Given the description of an element on the screen output the (x, y) to click on. 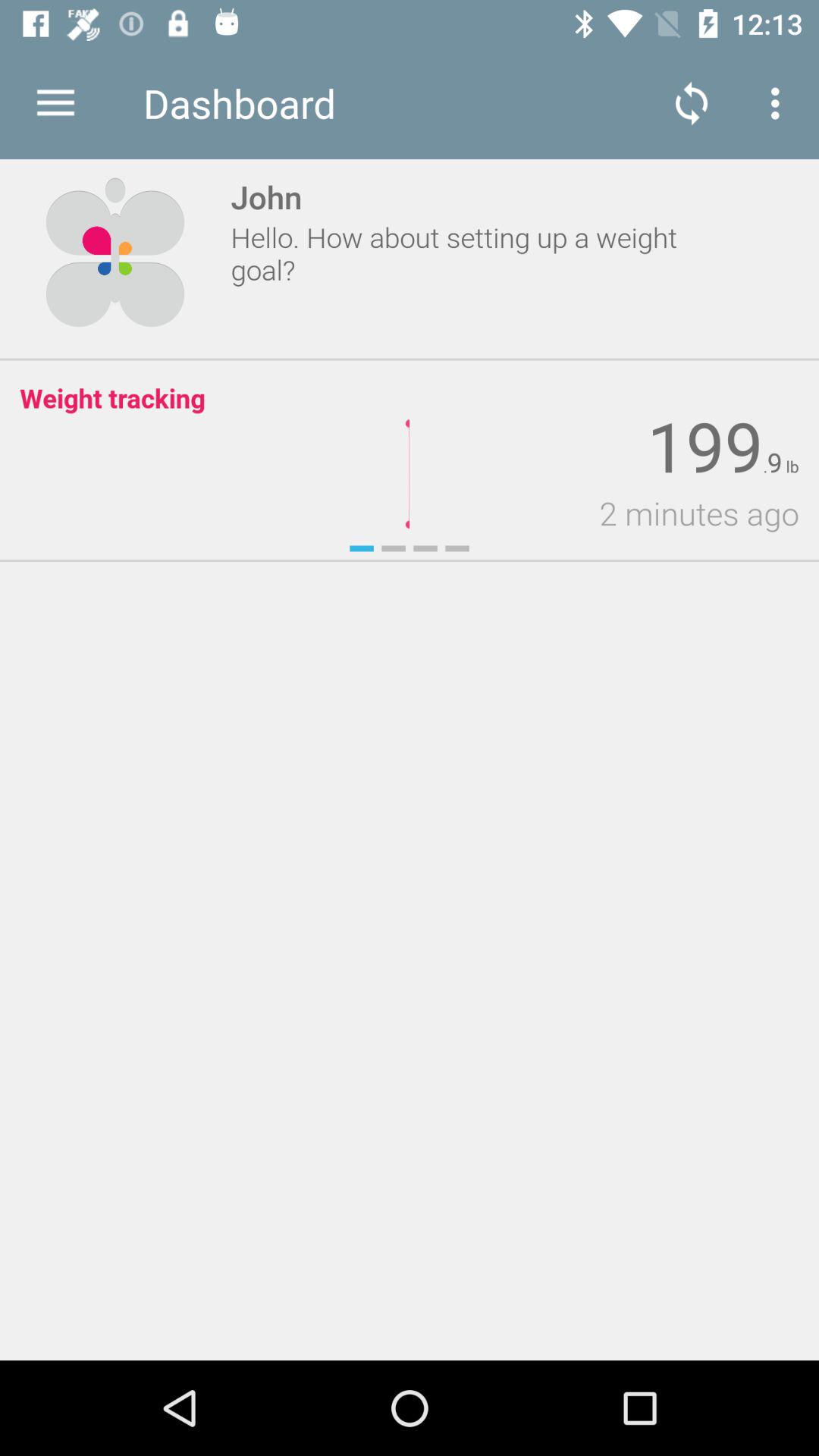
choose item above 2 minutes ago item (705, 447)
